Given the description of an element on the screen output the (x, y) to click on. 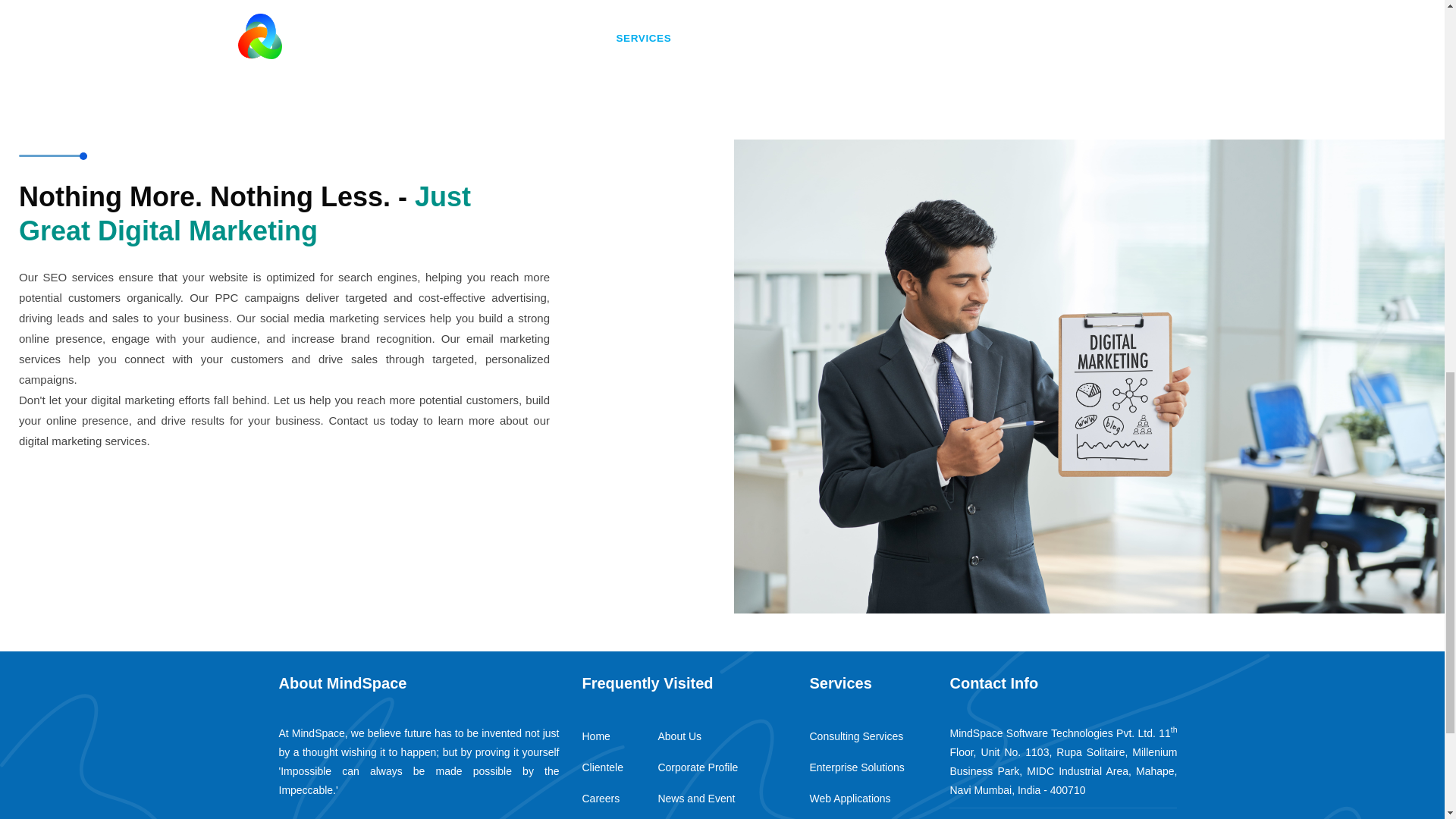
Consulting Services (855, 736)
Careers (600, 798)
Home (595, 736)
Corporate Profile (698, 767)
Web Applications (849, 798)
About Us (679, 736)
Enterprise Solutions (856, 767)
News and Event (696, 798)
Clientele (601, 767)
